Given the description of an element on the screen output the (x, y) to click on. 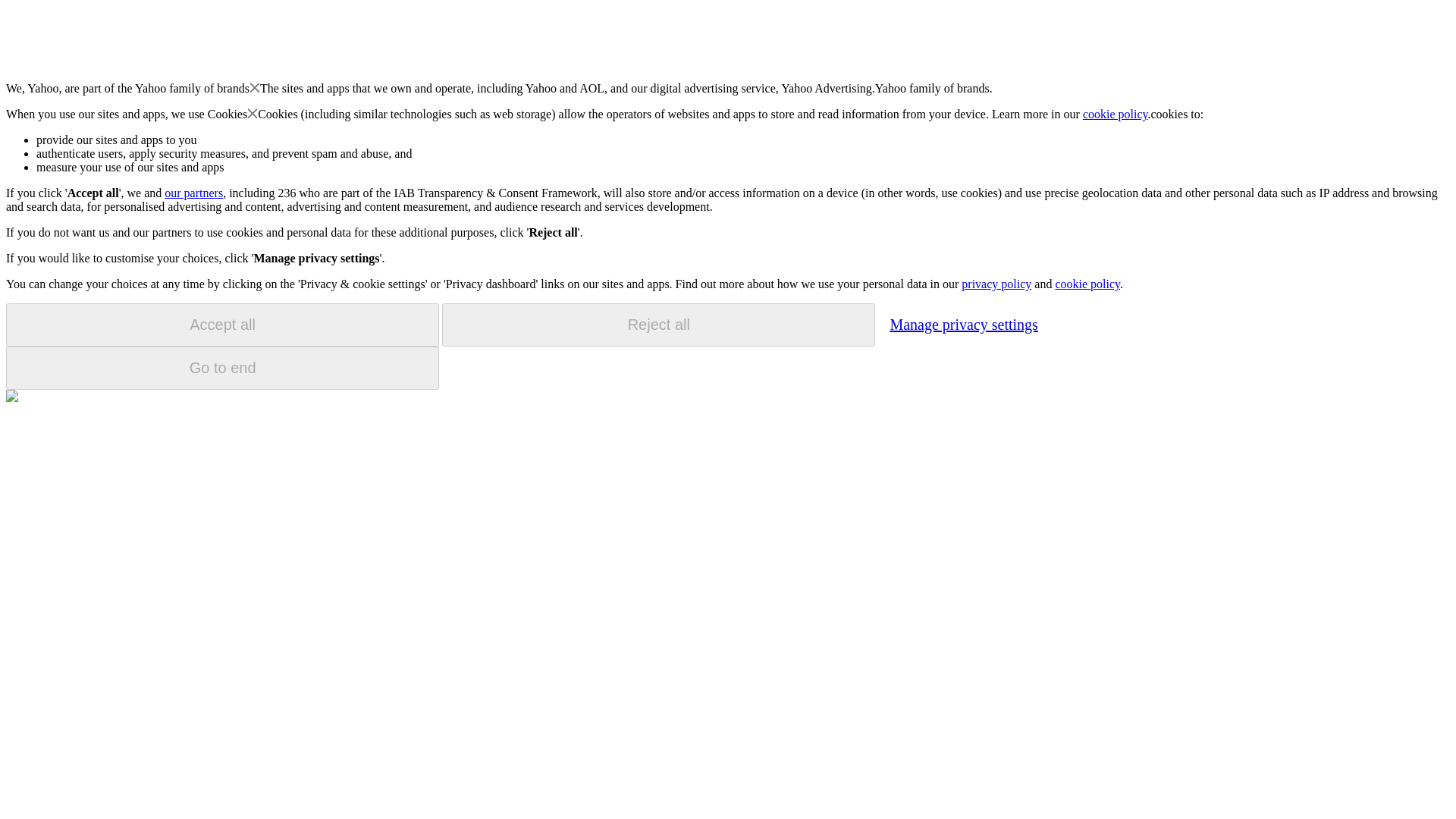
Manage privacy settings (963, 323)
cookie policy (1115, 113)
our partners (193, 192)
Accept all (222, 324)
privacy policy (995, 283)
Reject all (658, 324)
Go to end (222, 367)
cookie policy (1086, 283)
